Given the description of an element on the screen output the (x, y) to click on. 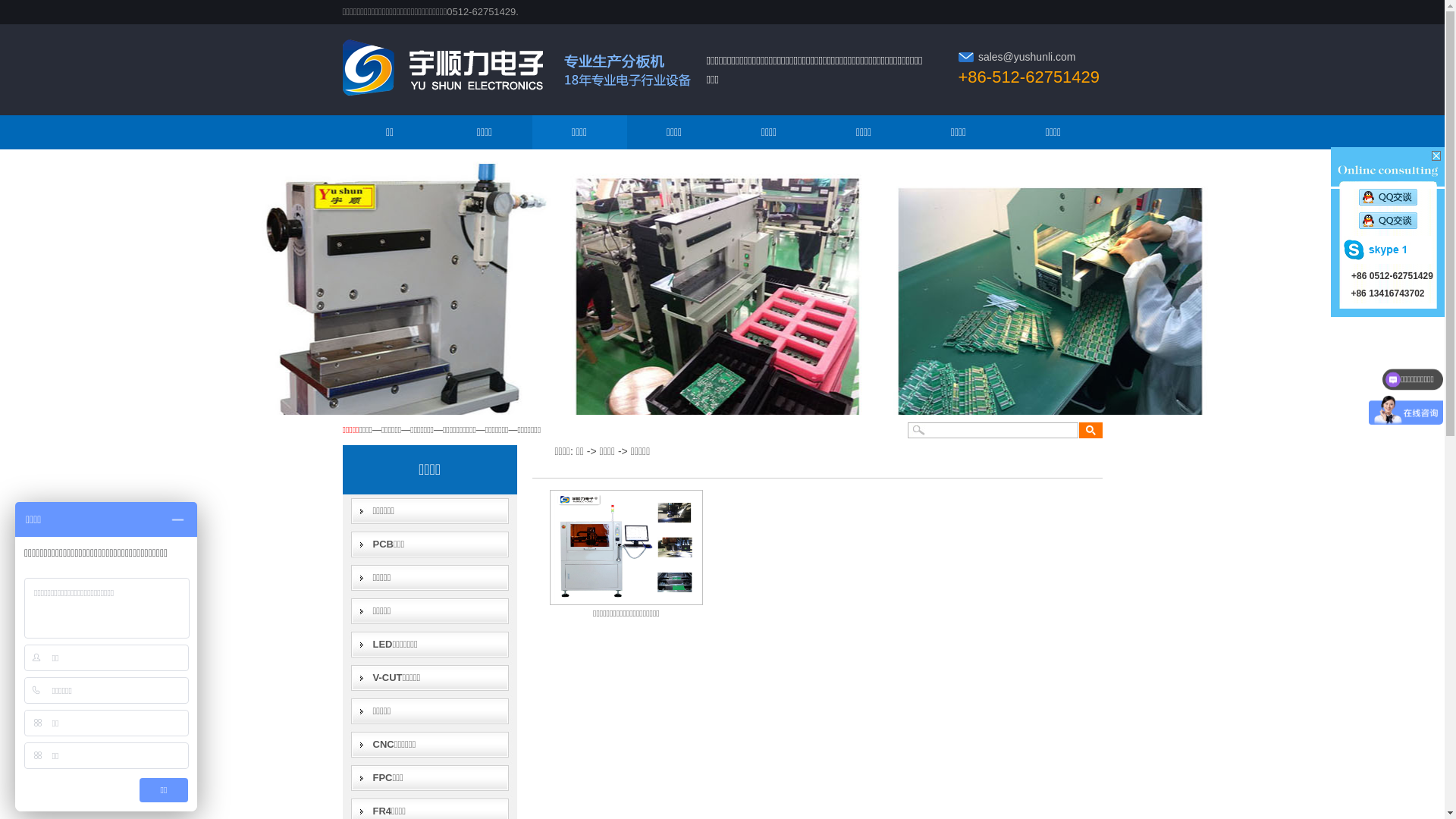
sales@yushunli.com Element type: text (1027, 56)
